Given the description of an element on the screen output the (x, y) to click on. 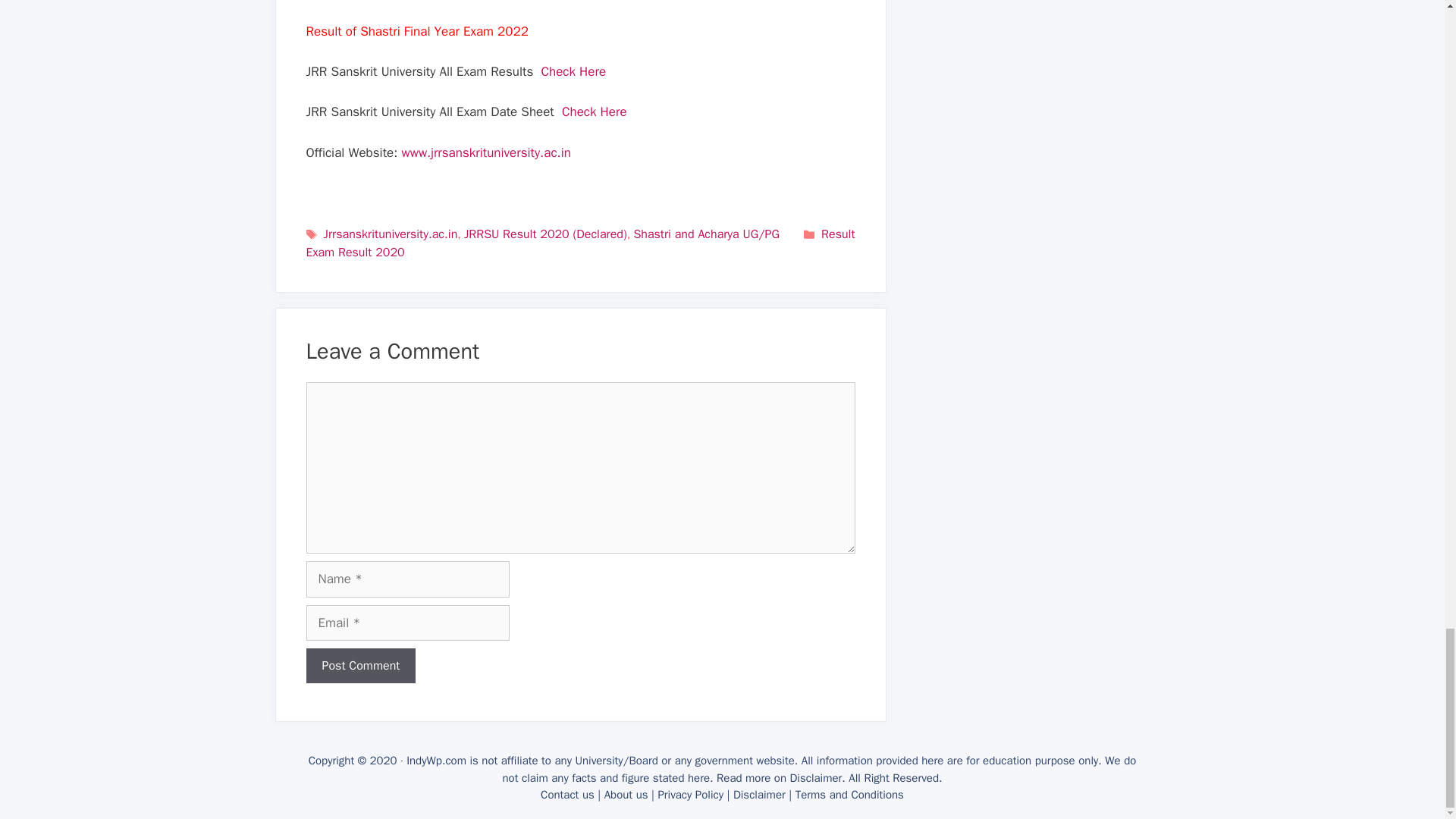
Result of Shastri Final Year Exam 2022 (416, 31)
www.jrrsanskrituniversity.ac.in (485, 152)
Post Comment (360, 665)
Check Here (594, 111)
Check Here (574, 71)
Result (837, 233)
Jrrsanskrituniversity.ac.in (390, 233)
